Given the description of an element on the screen output the (x, y) to click on. 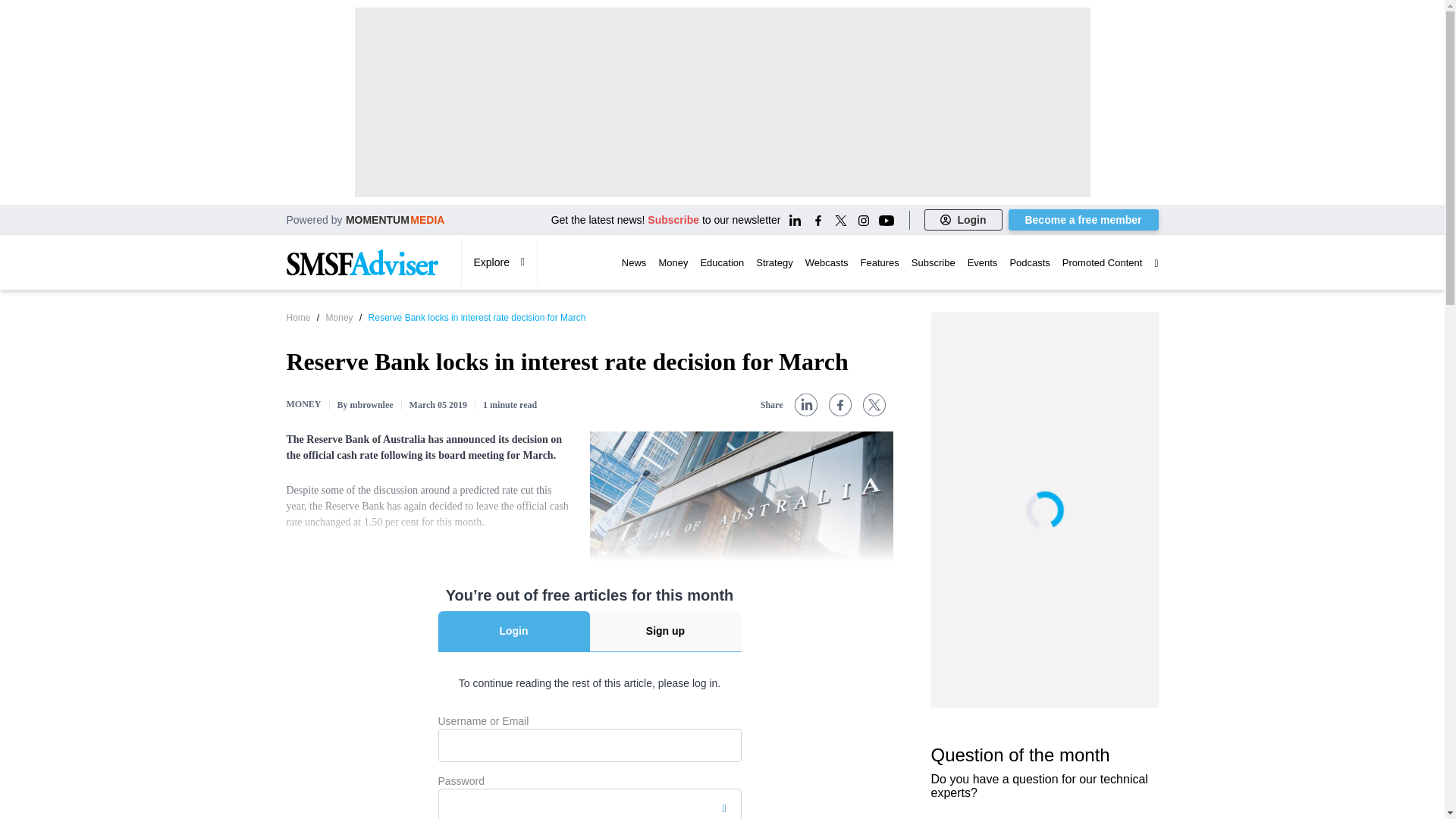
Login (962, 219)
Become a free member (1083, 219)
MOMENTUM MEDIA (395, 219)
Subscribe (672, 219)
Zoom In (604, 586)
